Given the description of an element on the screen output the (x, y) to click on. 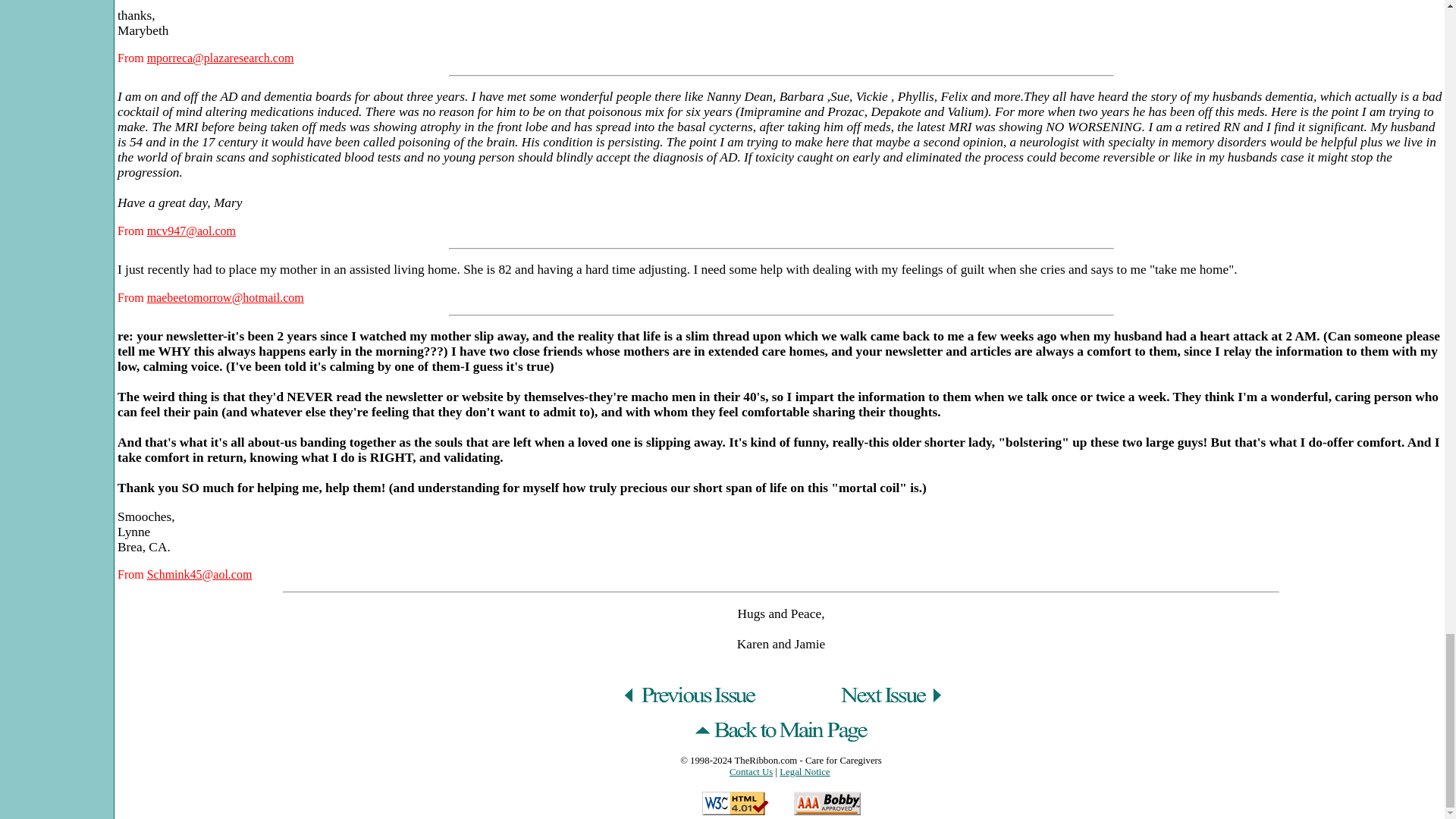
Send Email to MaryBeth (220, 57)
Send Email to Lynne (199, 574)
Send Email to Mary (191, 230)
